Given the description of an element on the screen output the (x, y) to click on. 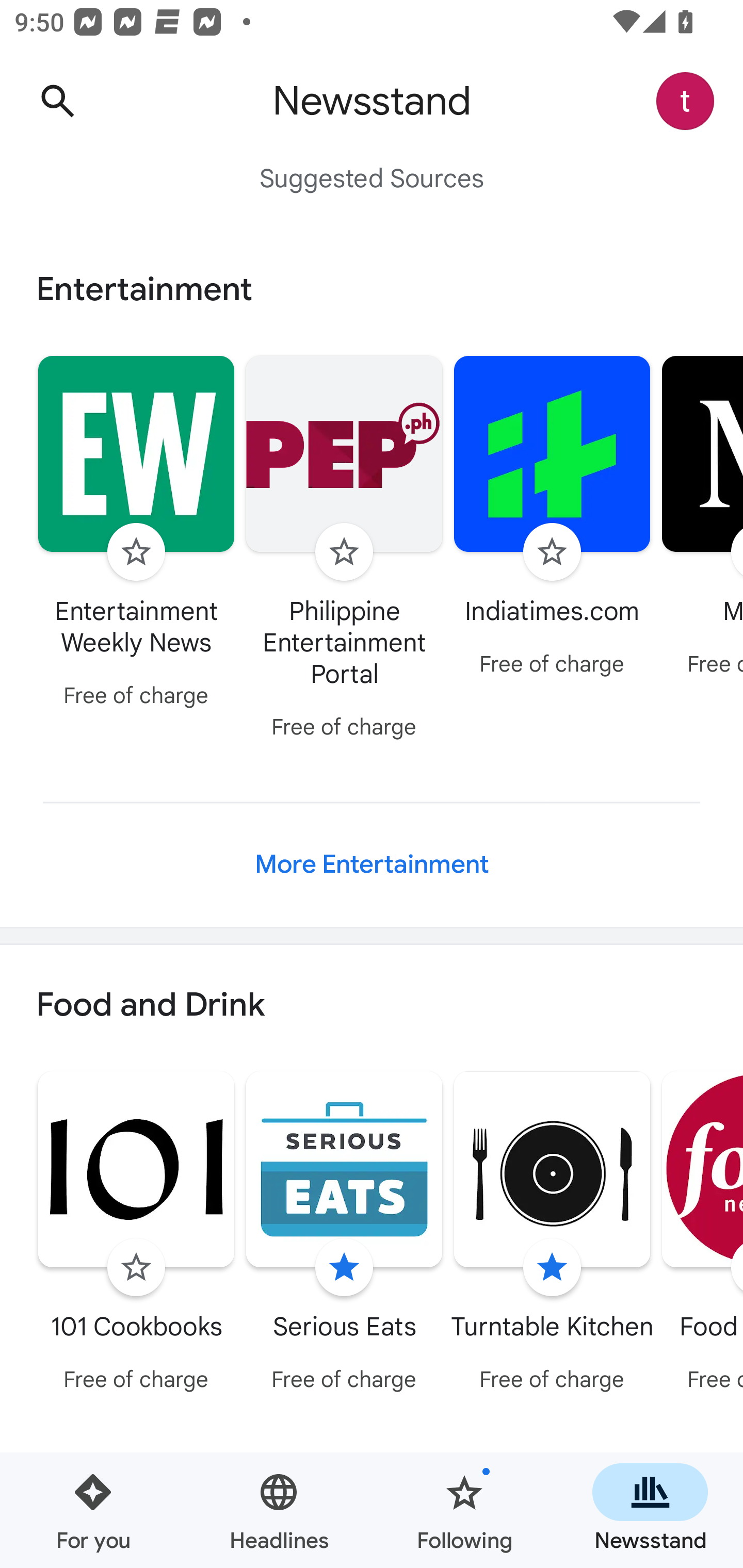
Search (57, 100)
Entertainment (371, 288)
Follow Entertainment Weekly News Free of charge (136, 534)
Follow Indiatimes.com Free of charge (552, 517)
Follow (135, 551)
Follow (343, 551)
Follow (552, 551)
More Entertainment (371, 864)
Food and Drink (371, 1005)
Follow 101 Cookbooks Free of charge (136, 1234)
Unfollow Serious Eats Free of charge (344, 1234)
Unfollow Turntable Kitchen Free of charge (552, 1234)
Follow (135, 1267)
Unfollow (343, 1267)
Unfollow (552, 1267)
For you (92, 1509)
Headlines (278, 1509)
Following (464, 1509)
Newsstand (650, 1509)
